Given the description of an element on the screen output the (x, y) to click on. 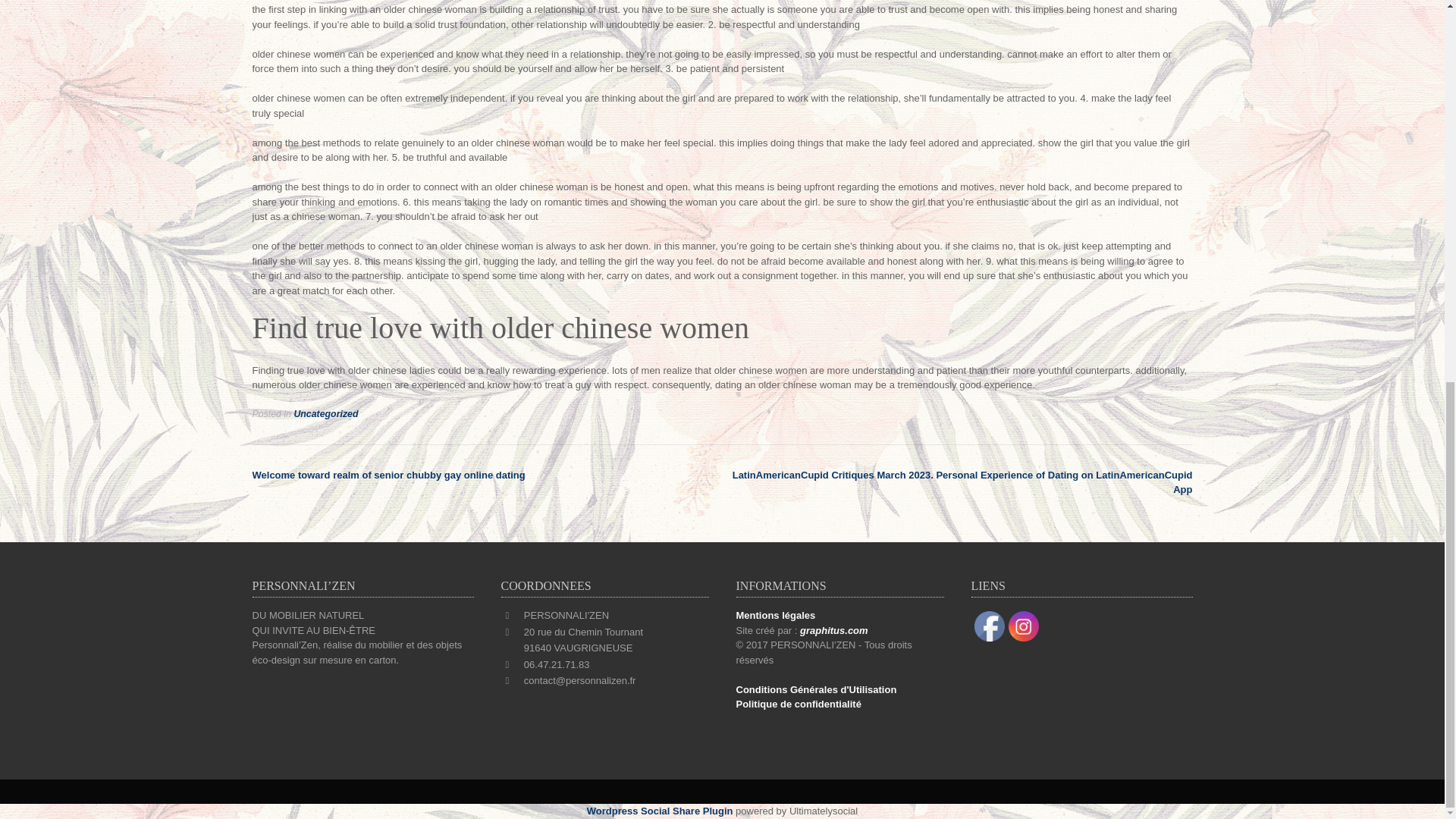
Welcome toward realm of senior chubby gay online dating (387, 474)
Instagram (1024, 625)
Wordpress Social Share Plugin (660, 810)
Uncategorized (326, 413)
graphitus.com (833, 630)
Facebook (989, 625)
